Given the description of an element on the screen output the (x, y) to click on. 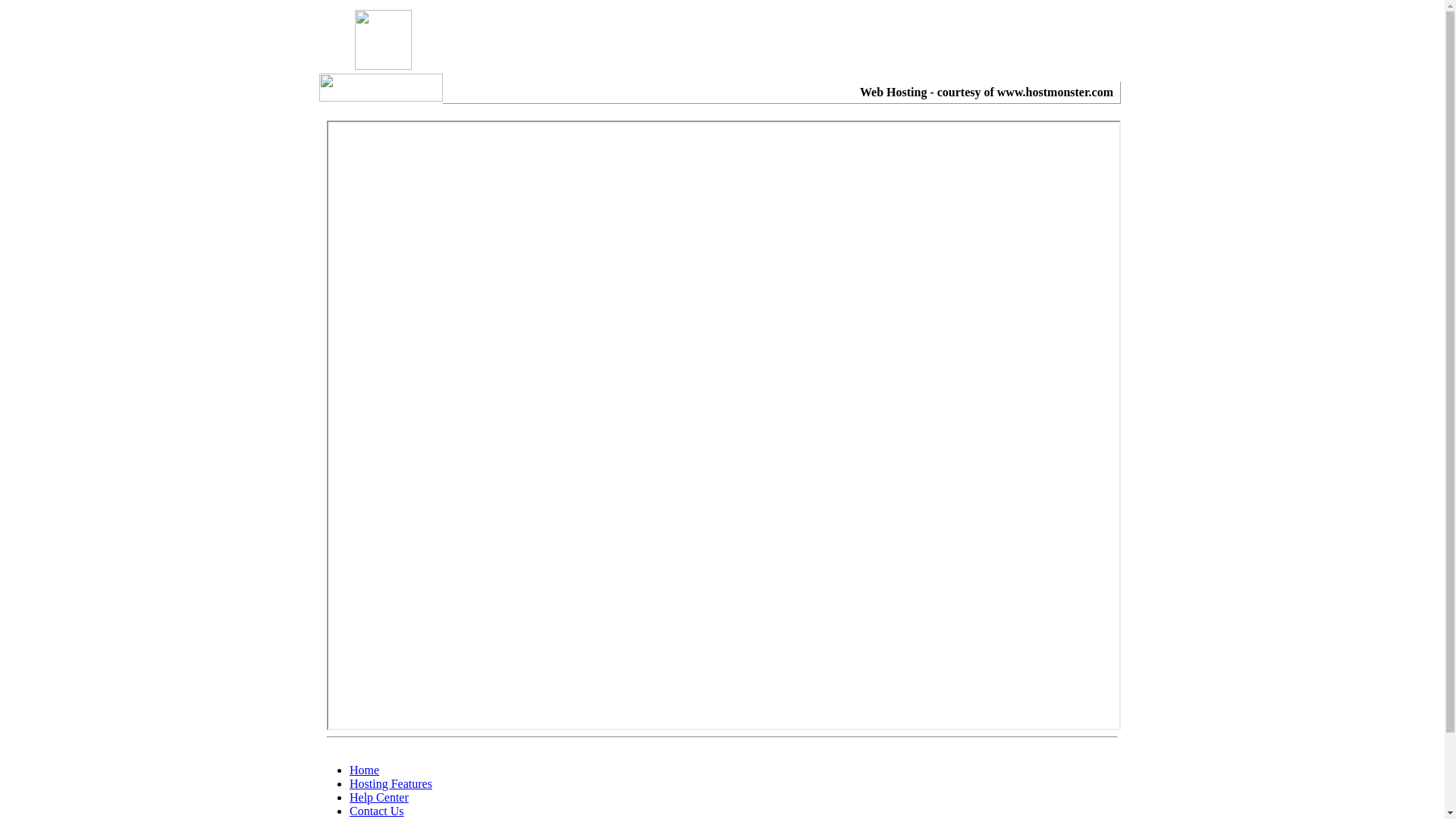
Help Center Element type: text (378, 796)
Web Hosting - courtesy of www.hostmonster.com Element type: text (986, 91)
Hosting Features Element type: text (390, 783)
Home Element type: text (364, 769)
Contact Us Element type: text (376, 810)
